Given the description of an element on the screen output the (x, y) to click on. 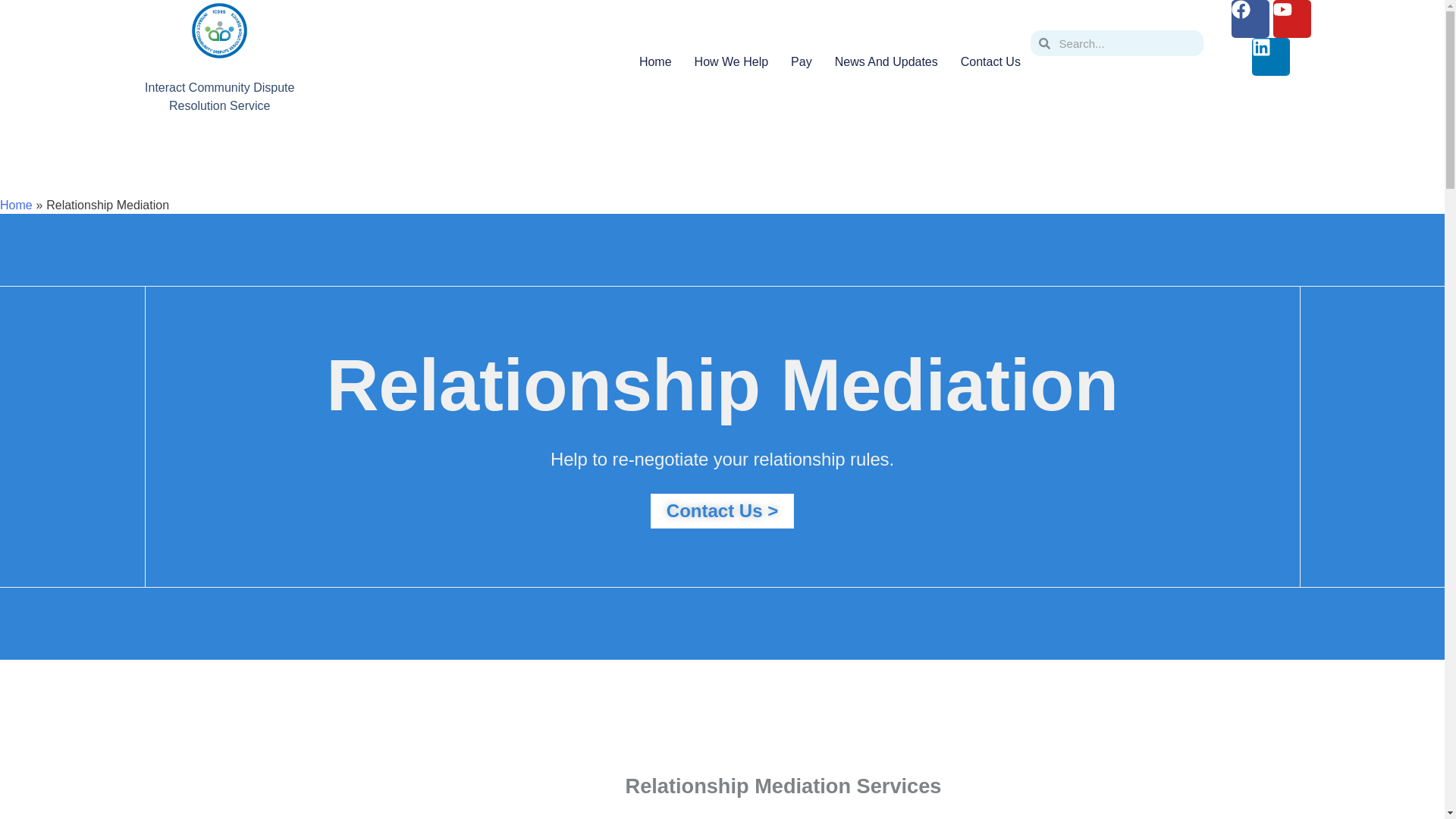
Youtube (1291, 18)
Facebook (1250, 18)
News And Updates (885, 62)
Linkedin (1271, 56)
Home (655, 62)
Contact Us (990, 62)
How We Help (731, 62)
Pay (801, 62)
